Given the description of an element on the screen output the (x, y) to click on. 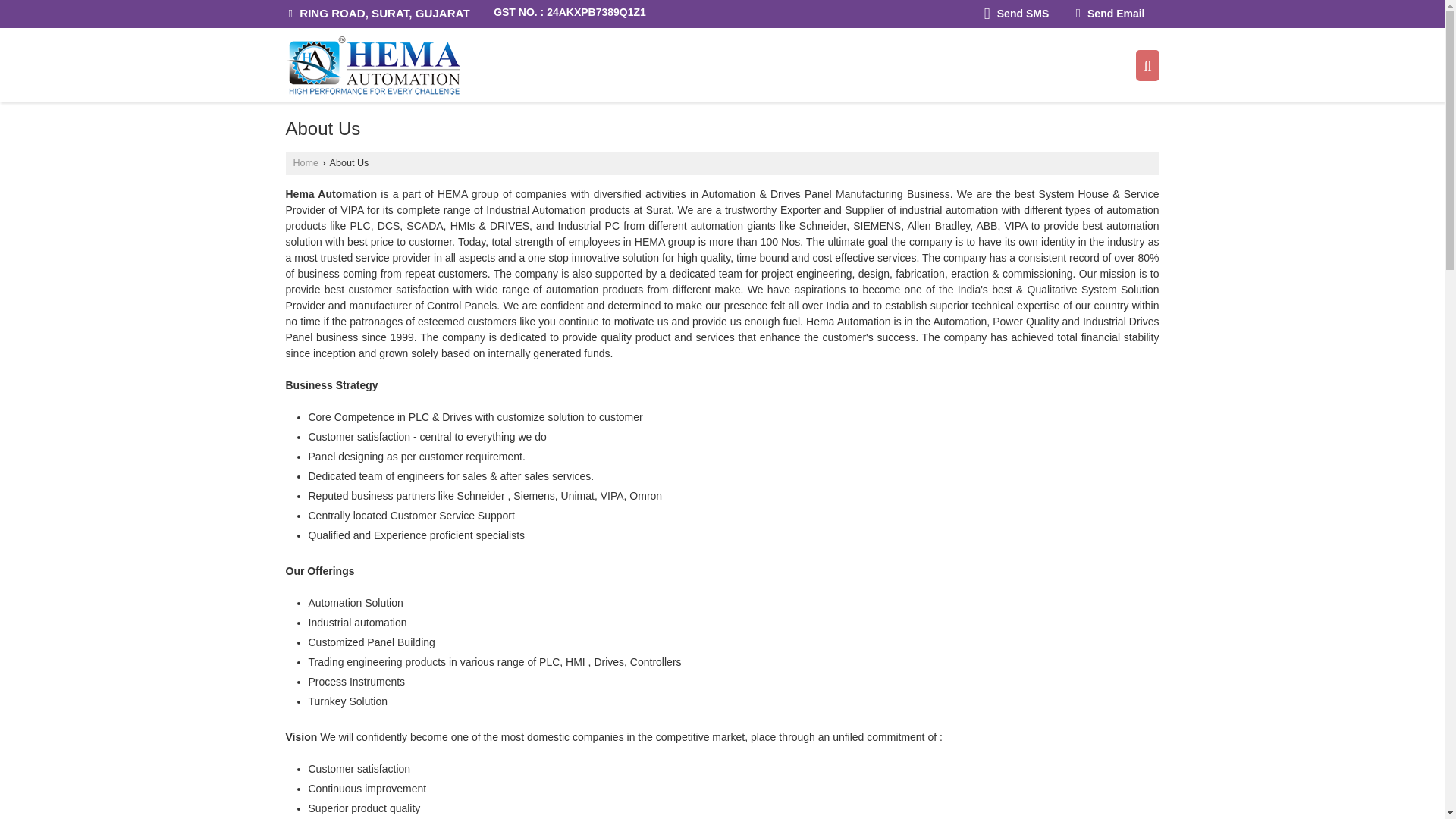
Send Email (1110, 14)
Send SMS (1015, 14)
Hema Automation (372, 65)
